Given the description of an element on the screen output the (x, y) to click on. 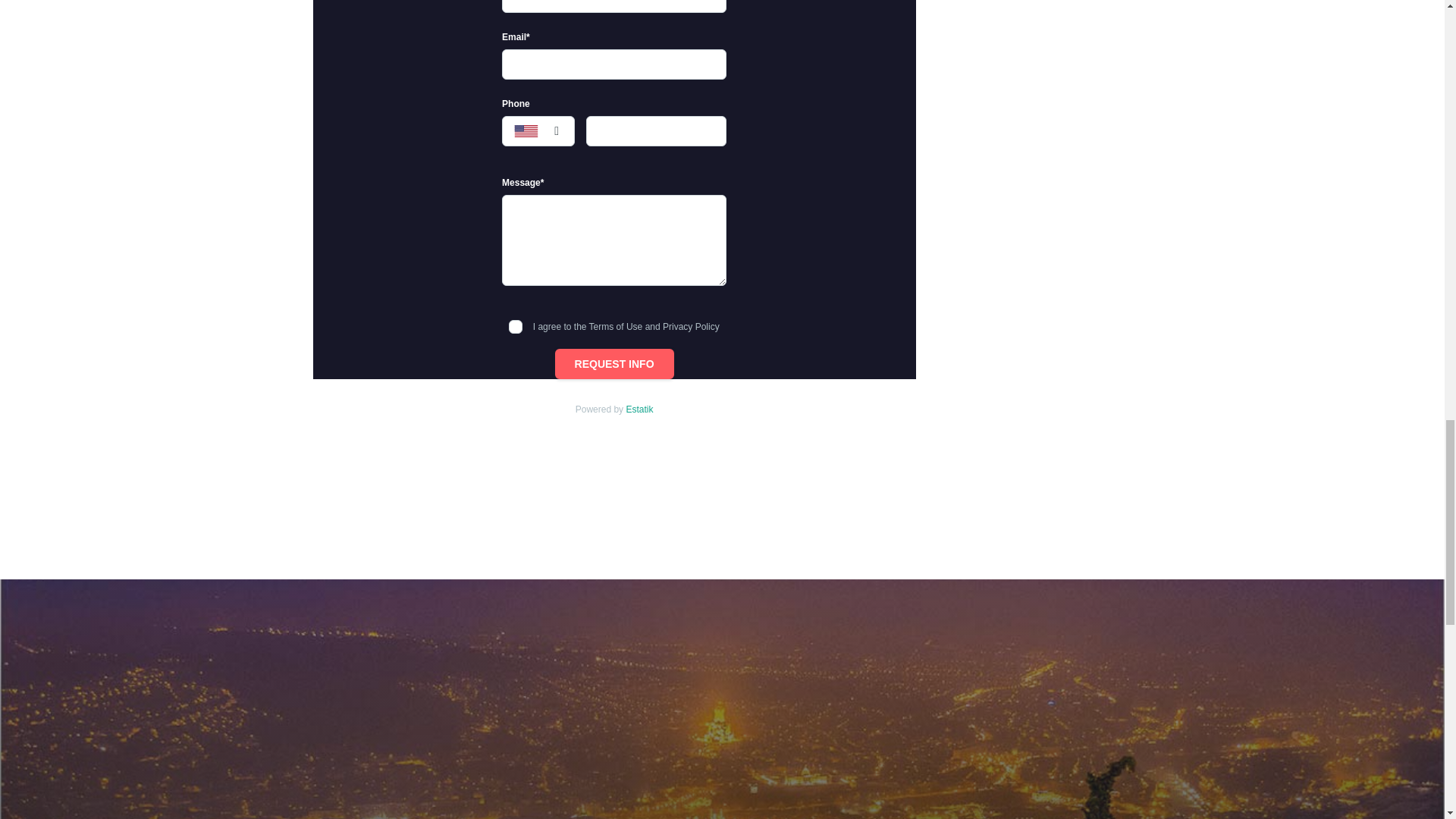
1 (515, 326)
